Given the description of an element on the screen output the (x, y) to click on. 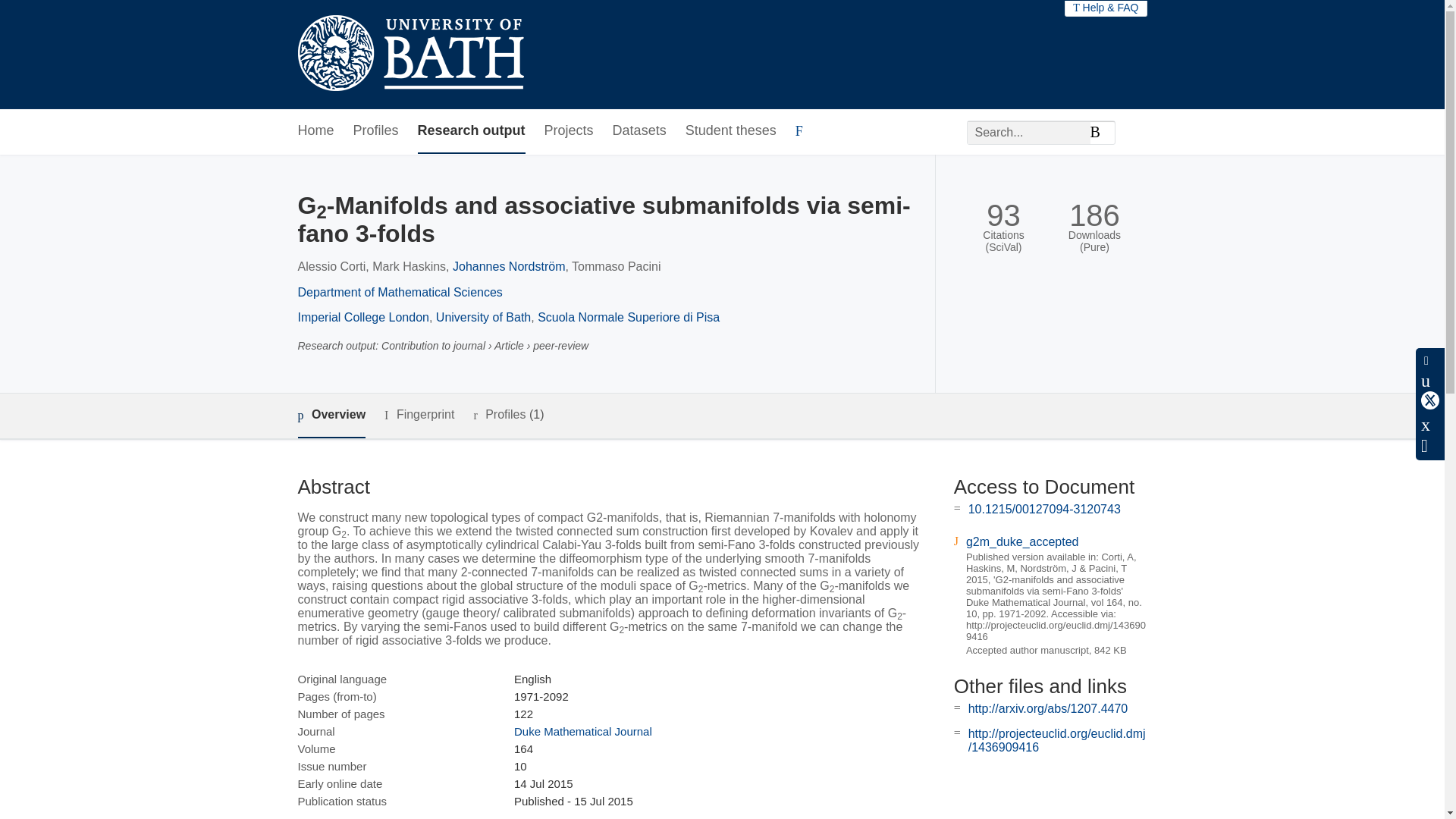
the University of Bath's research portal Home (409, 54)
Fingerprint (419, 414)
Overview (331, 415)
Profiles (375, 130)
Projects (569, 130)
Duke Mathematical Journal (582, 730)
Scuola Normale Superiore di Pisa (628, 317)
Student theses (730, 130)
Datasets (639, 130)
Research output (471, 130)
Department of Mathematical Sciences (399, 291)
Home (315, 130)
Imperial College London (362, 317)
University of Bath (483, 317)
